Given the description of an element on the screen output the (x, y) to click on. 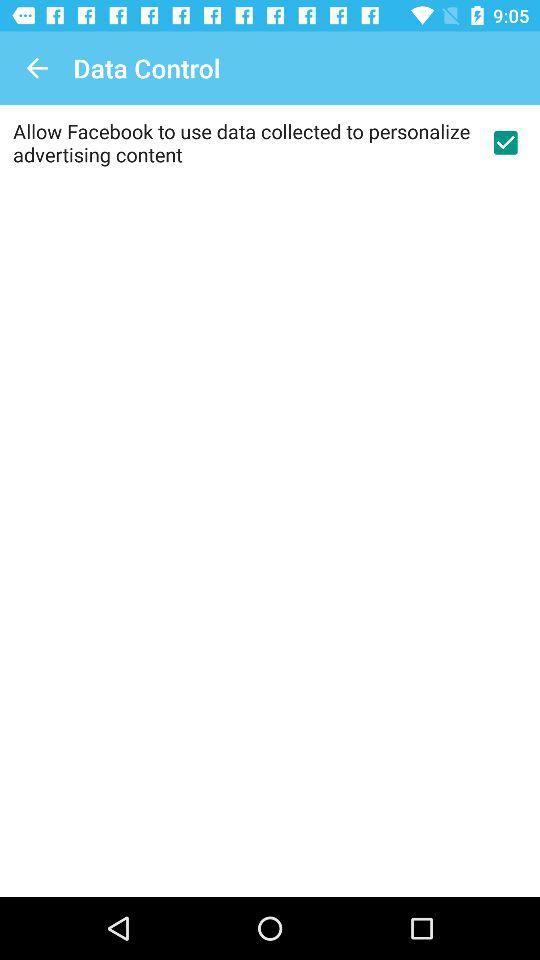
toggle data control consent (505, 142)
